Given the description of an element on the screen output the (x, y) to click on. 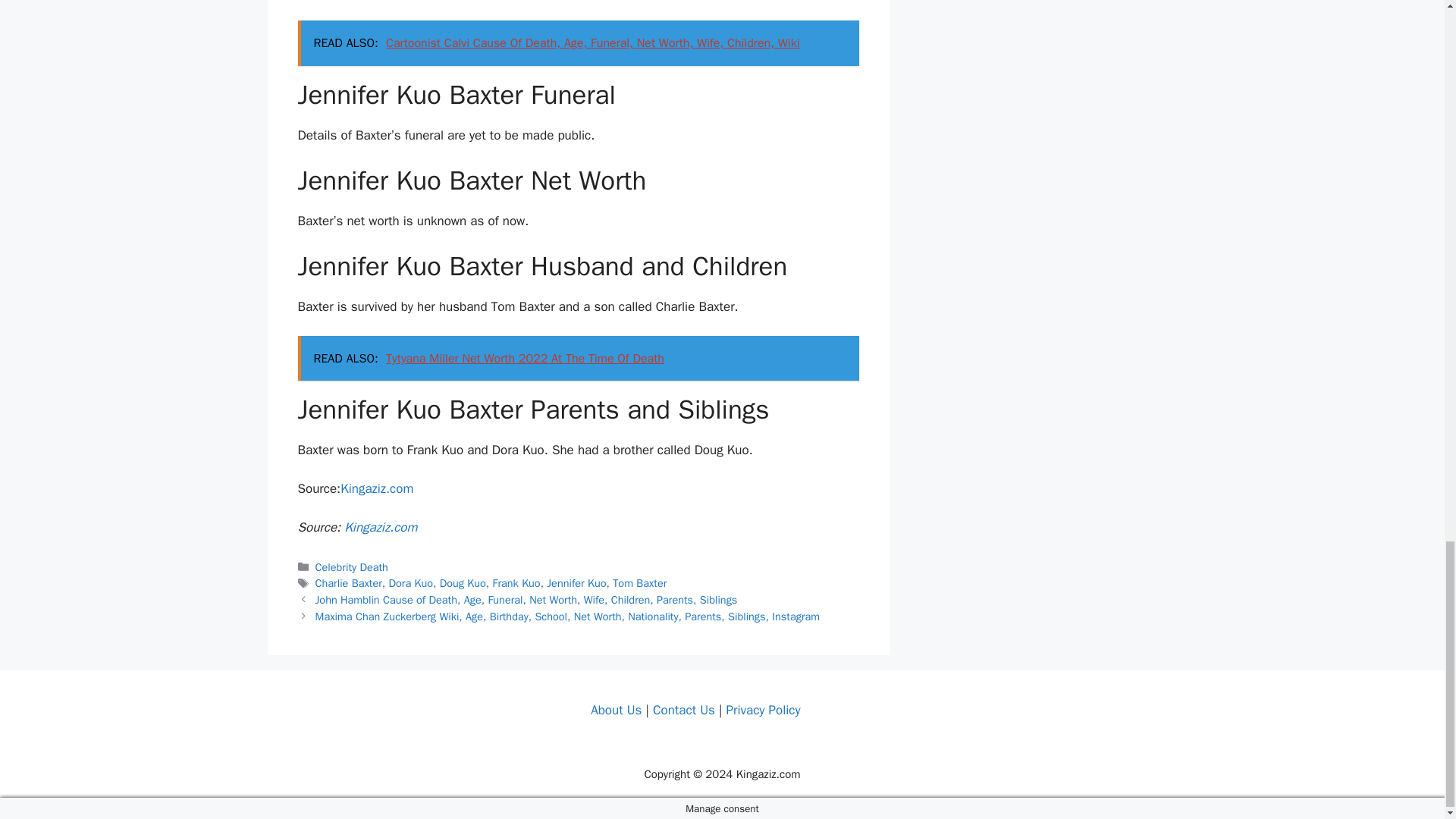
Frank Kuo (516, 582)
Privacy Policy (762, 709)
Jennifer Kuo (576, 582)
Contact Us (683, 709)
Dora Kuo (410, 582)
Kingaziz.com (376, 488)
Charlie Baxter (348, 582)
Tom Baxter (639, 582)
Doug Kuo (462, 582)
Kingaziz.com (379, 527)
Celebrity Death (351, 567)
